Given the description of an element on the screen output the (x, y) to click on. 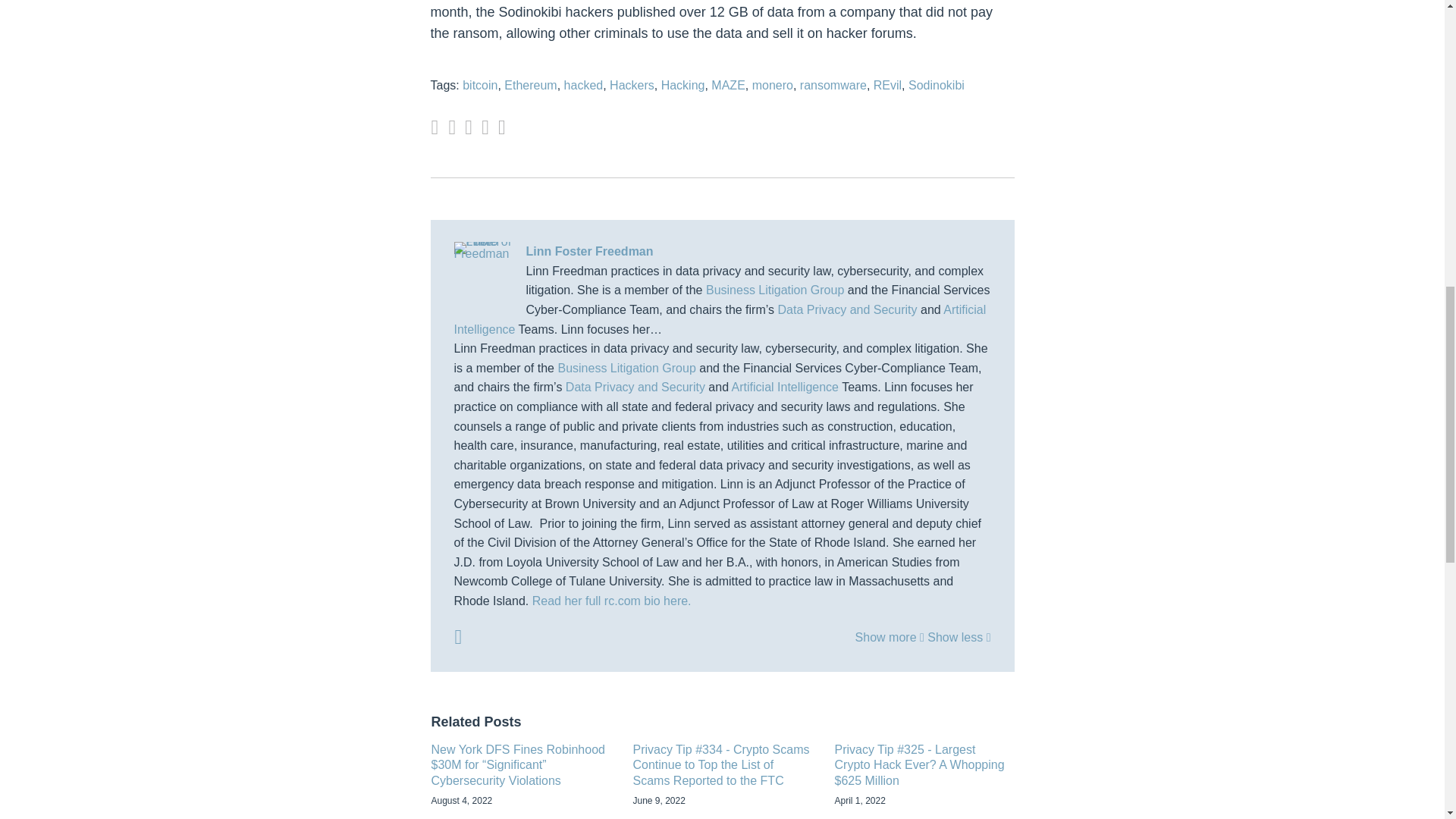
Read her full rc.com bio here. (611, 600)
Sodinokibi (935, 84)
Data Privacy and Security (635, 386)
bitcoin (480, 84)
Artificial Intelligence (718, 319)
Data Privacy and Security (847, 309)
Ethereum (529, 84)
hacked (584, 84)
Linn Foster Freedman (721, 251)
MAZE (727, 84)
